Given the description of an element on the screen output the (x, y) to click on. 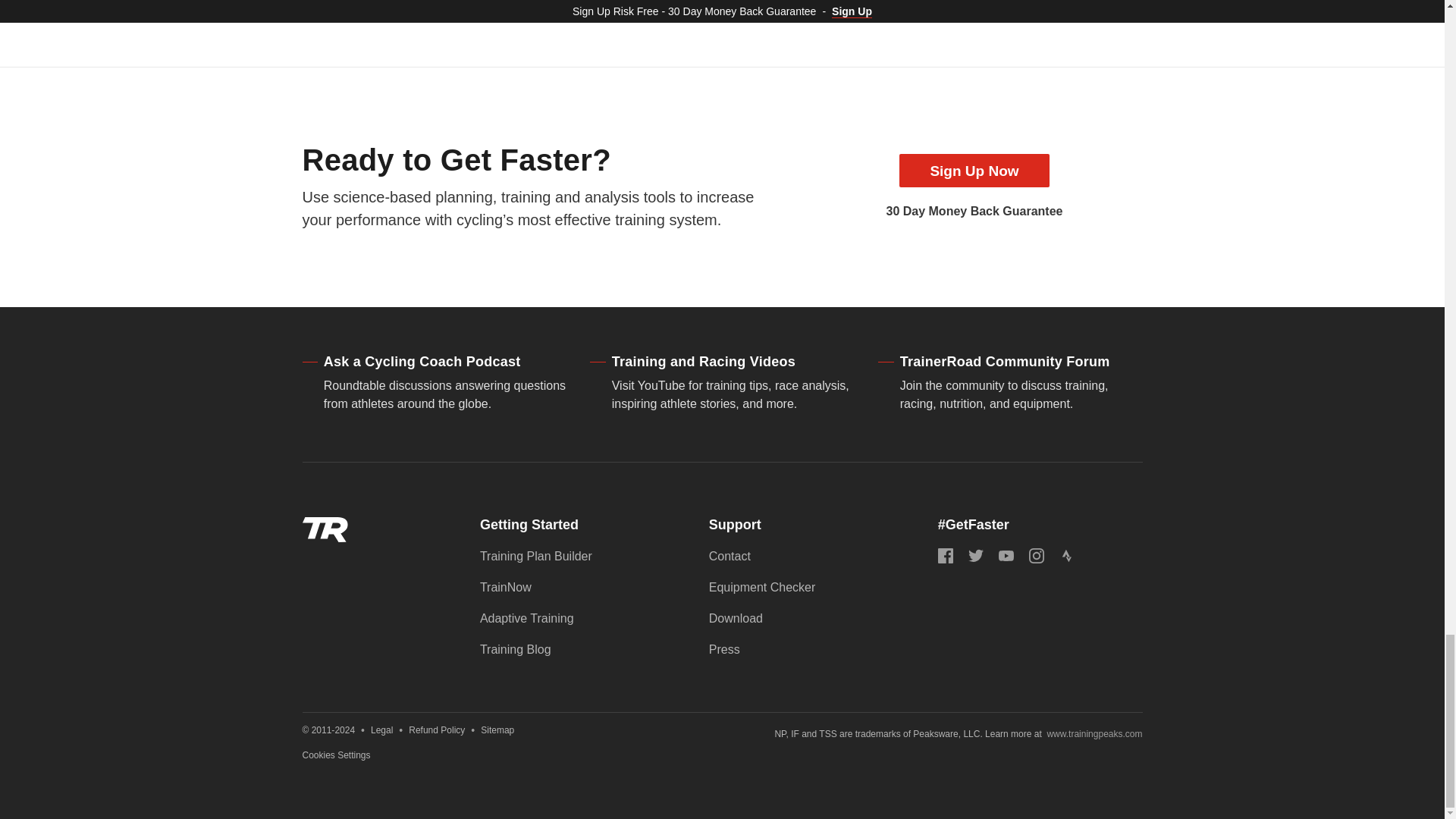
Contact (730, 555)
Follow TrainerRoad on Facebook (945, 555)
Press (724, 648)
Equipment Checker (762, 586)
Subscribe to TrainerRoad on YouTube (1005, 555)
Getting Started (529, 524)
Training Plan Builder (536, 555)
Legal (382, 729)
Sign Up Now (973, 170)
www.trainingpeaks.com (1093, 734)
Support (735, 524)
TrainNow (505, 586)
Join the TrainerRoad Club on Strava (1066, 555)
